Given the description of an element on the screen output the (x, y) to click on. 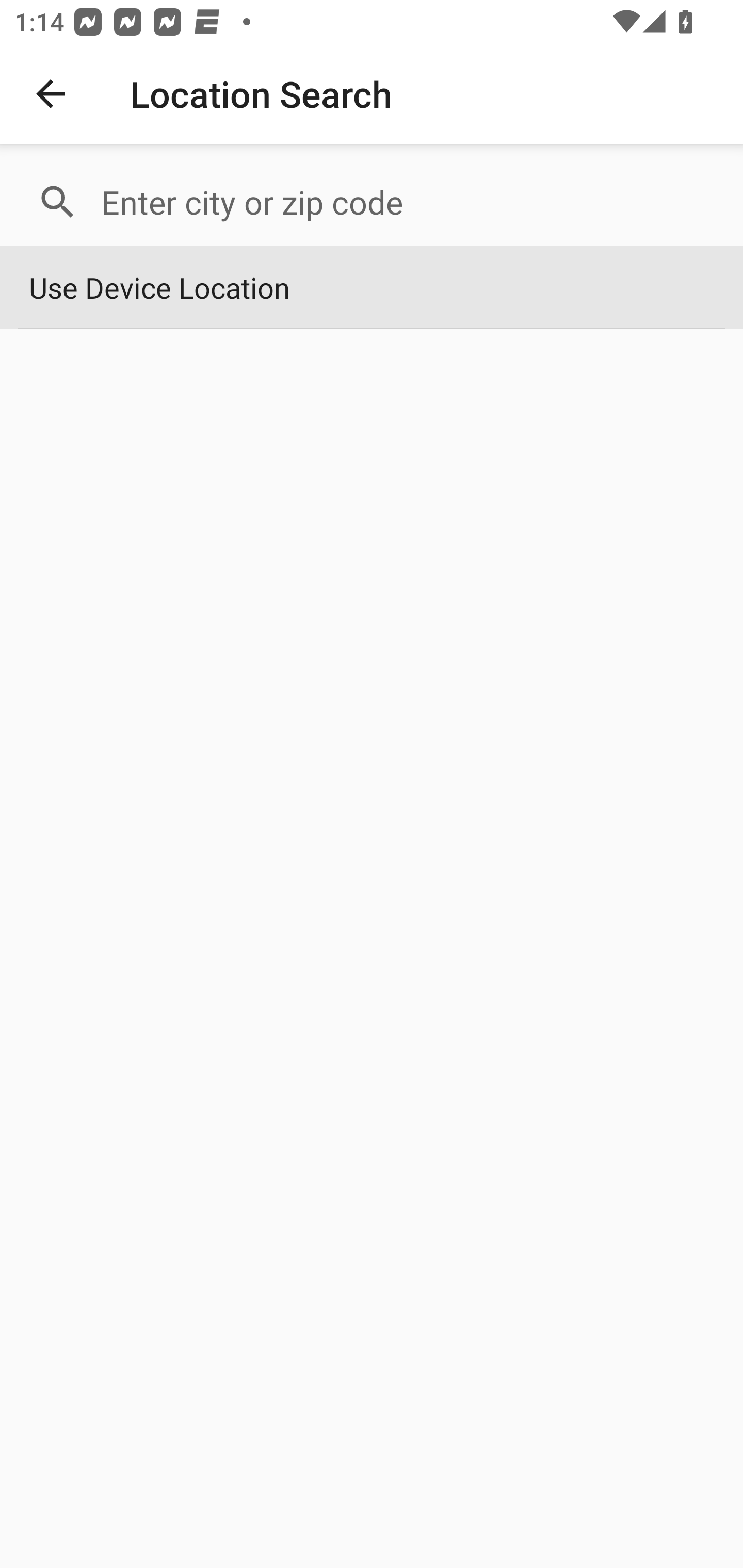
Navigate up (50, 93)
Enter city or zip code (407, 202)
Use Device Location (371, 287)
